Given the description of an element on the screen output the (x, y) to click on. 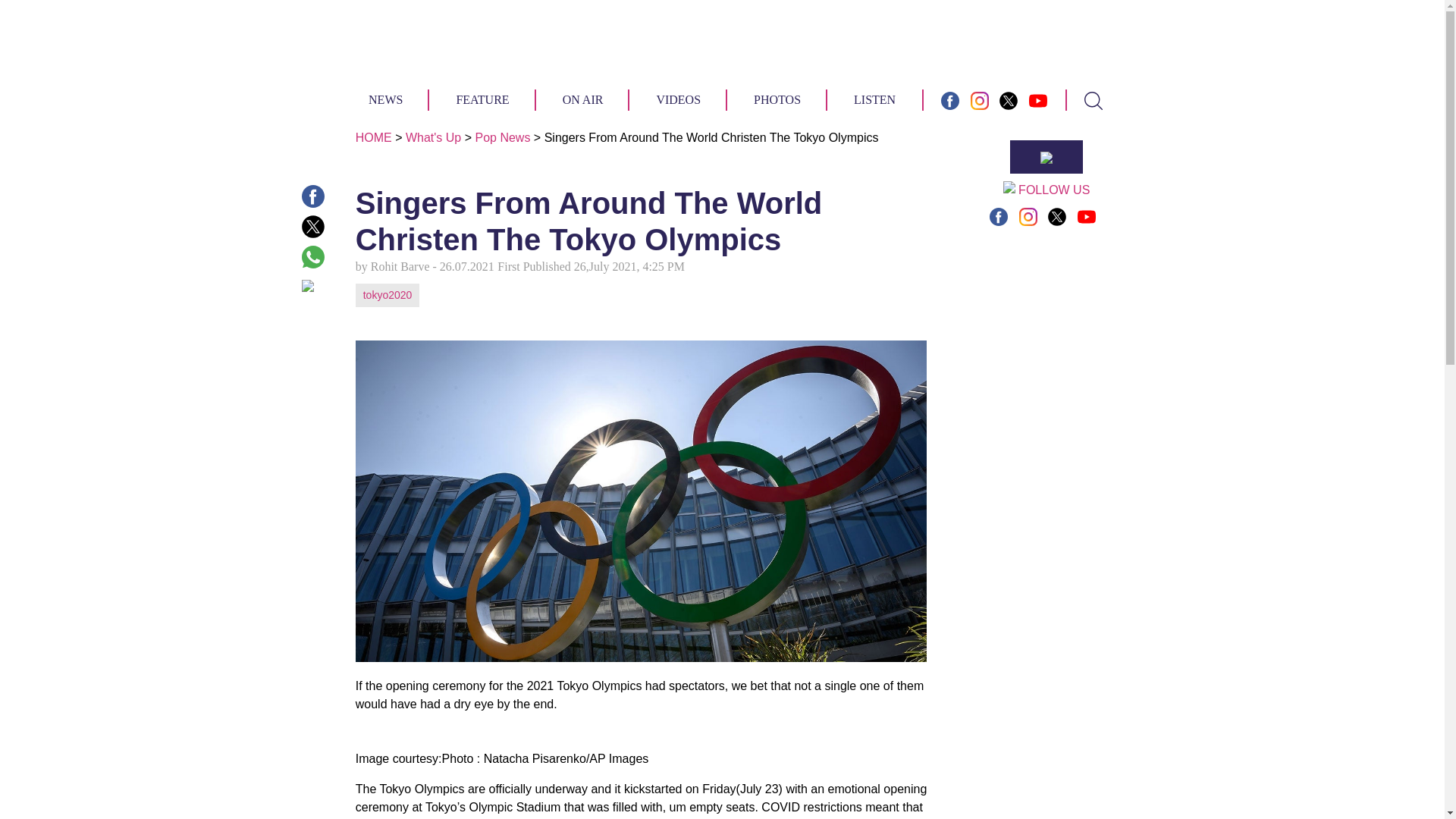
PHOTOS (776, 99)
Go to the Pop News Category archives. (501, 137)
LISTEN (874, 99)
Pop News (501, 137)
tokyo2020 (387, 295)
VIDEOS (677, 99)
FEATURE (482, 99)
Click to share this post on Twitter (312, 226)
ON AIR (582, 99)
Go to HOME. (373, 137)
What's Up (433, 137)
HOME (373, 137)
Go to the What's Up Category archives. (433, 137)
NEWS (385, 99)
Share by Email (312, 285)
